Given the description of an element on the screen output the (x, y) to click on. 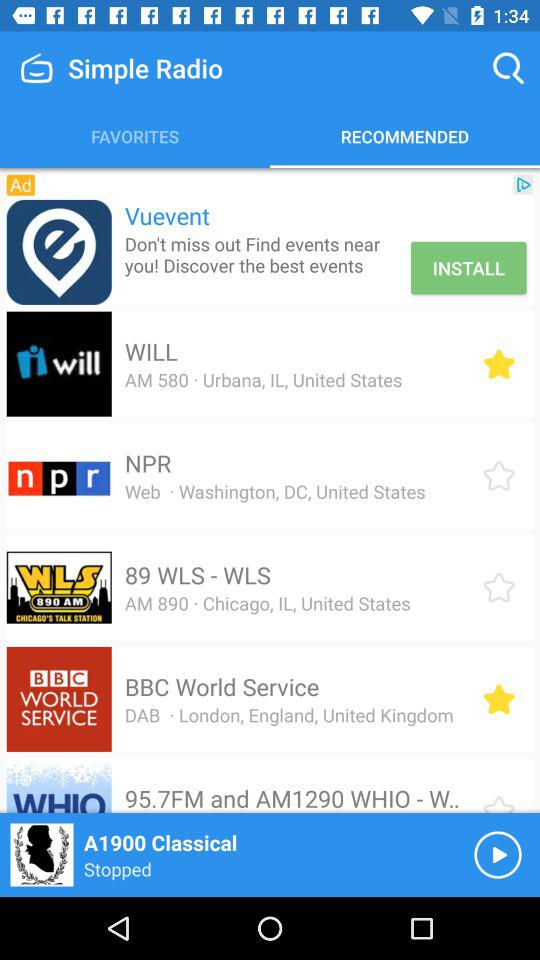
press the item below am 580 urbana icon (147, 463)
